Given the description of an element on the screen output the (x, y) to click on. 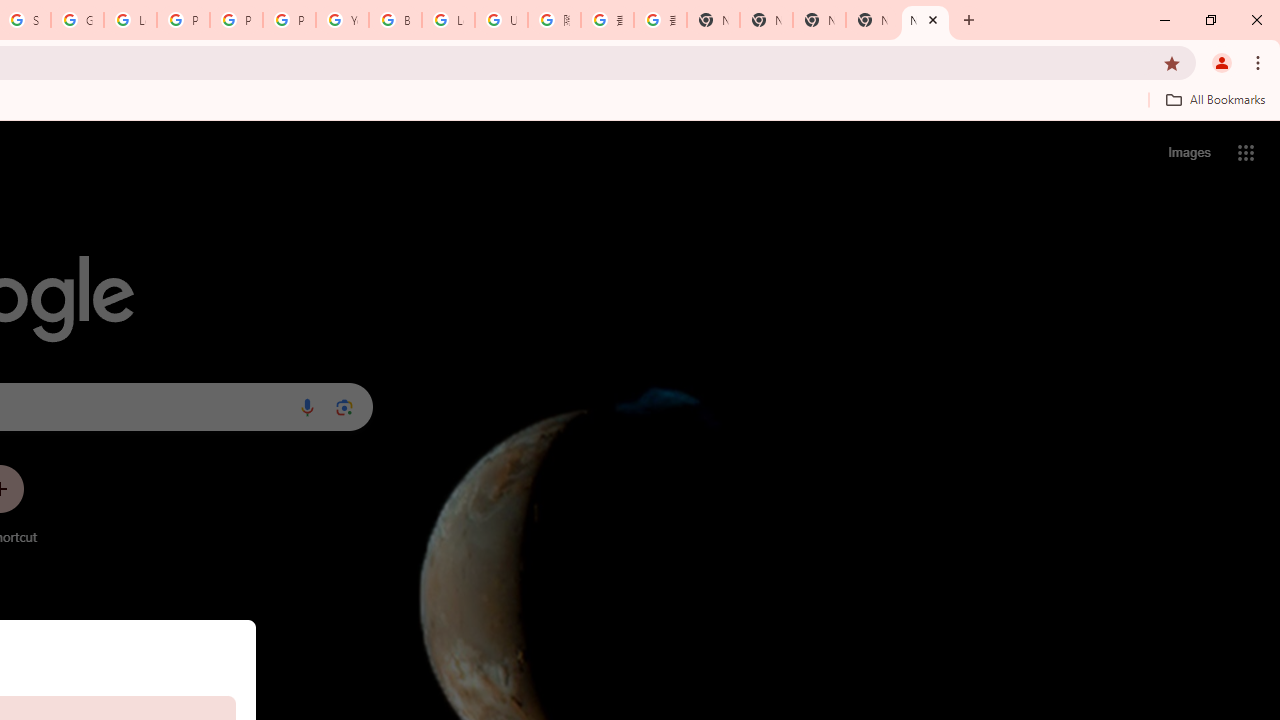
Privacy Help Center - Policies Help (235, 20)
YouTube (342, 20)
